Given the description of an element on the screen output the (x, y) to click on. 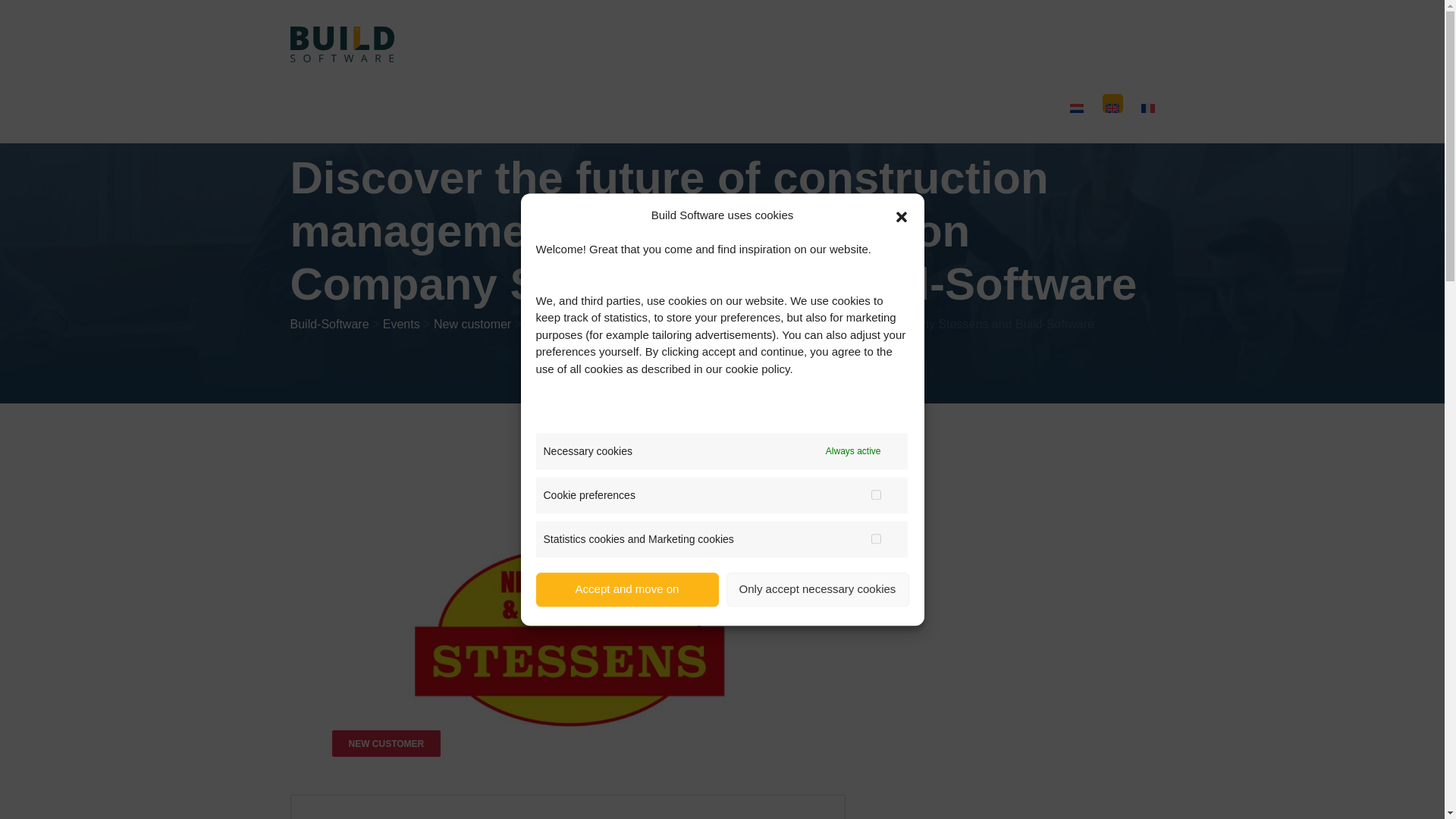
1 (875, 538)
Accept and move on (626, 684)
Go to Events. (401, 323)
1 (875, 494)
Only accept necessary cookies (817, 636)
Go to the New customer category archives. (472, 323)
Go to Build-Software. (328, 323)
